Given the description of an element on the screen output the (x, y) to click on. 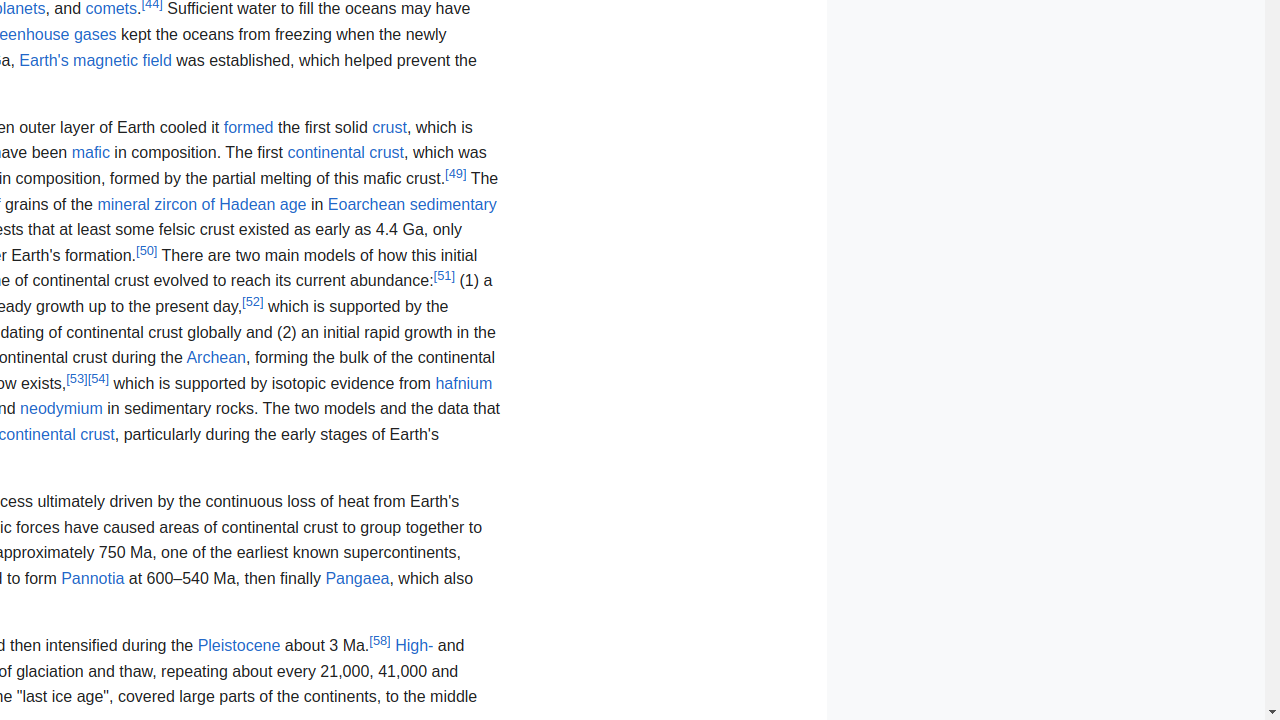
Archean Element type: link (216, 358)
continental crust Element type: link (345, 153)
mafic Element type: link (90, 153)
hafnium Element type: link (464, 382)
mineral zircon of Hadean age Element type: link (202, 204)
